Given the description of an element on the screen output the (x, y) to click on. 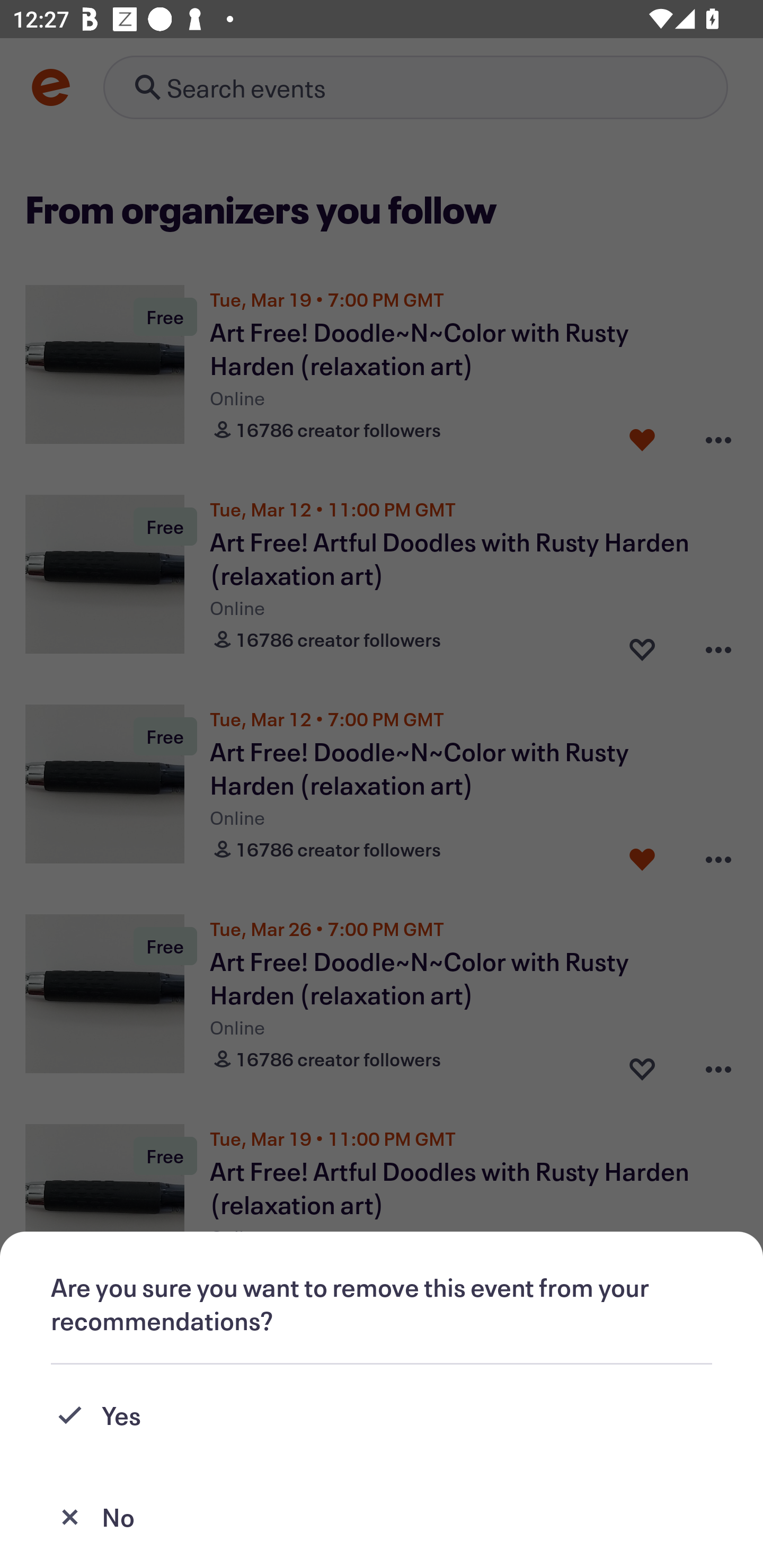
Yes (381, 1415)
No (381, 1517)
